Given the description of an element on the screen output the (x, y) to click on. 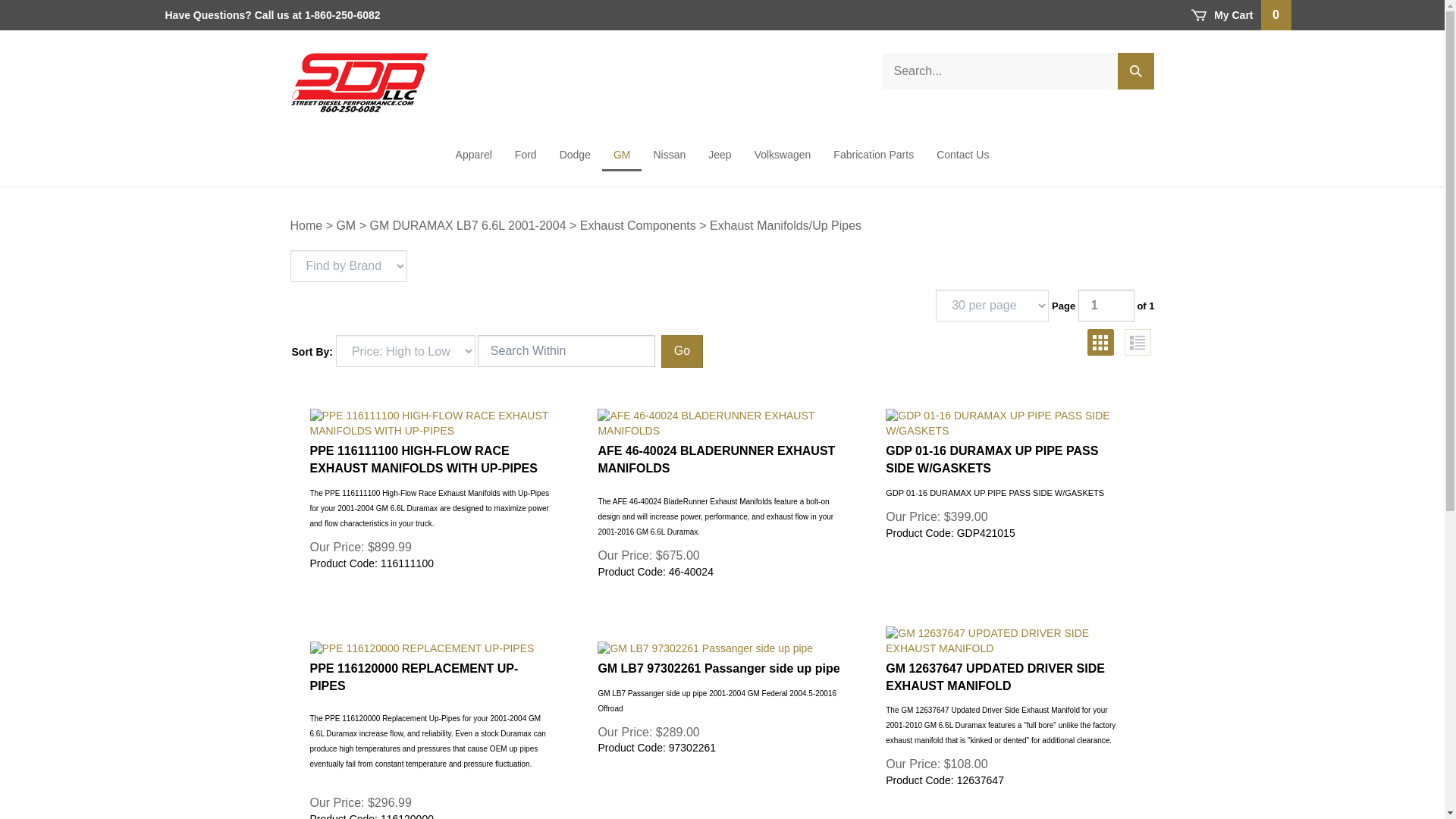
AFE 46-40024 BLADERUNNER EXHAUST MANIFOLDS (718, 423)
Sort By: (406, 350)
Search Within (566, 350)
PPE 116120000 REPLACEMENT UP-PIPES (429, 648)
www.streetdieselperformance.com (357, 83)
Search Within (566, 350)
AFE 46-40024 BLADERUNNER EXHAUST MANIFOLDS, 46-40024 (718, 460)
Go to page (1106, 305)
PPE 116111100 HIGH-FLOW RACE EXHAUST MANIFOLDS WITH UP-PIPES (429, 423)
1 (1106, 305)
